Given the description of an element on the screen output the (x, y) to click on. 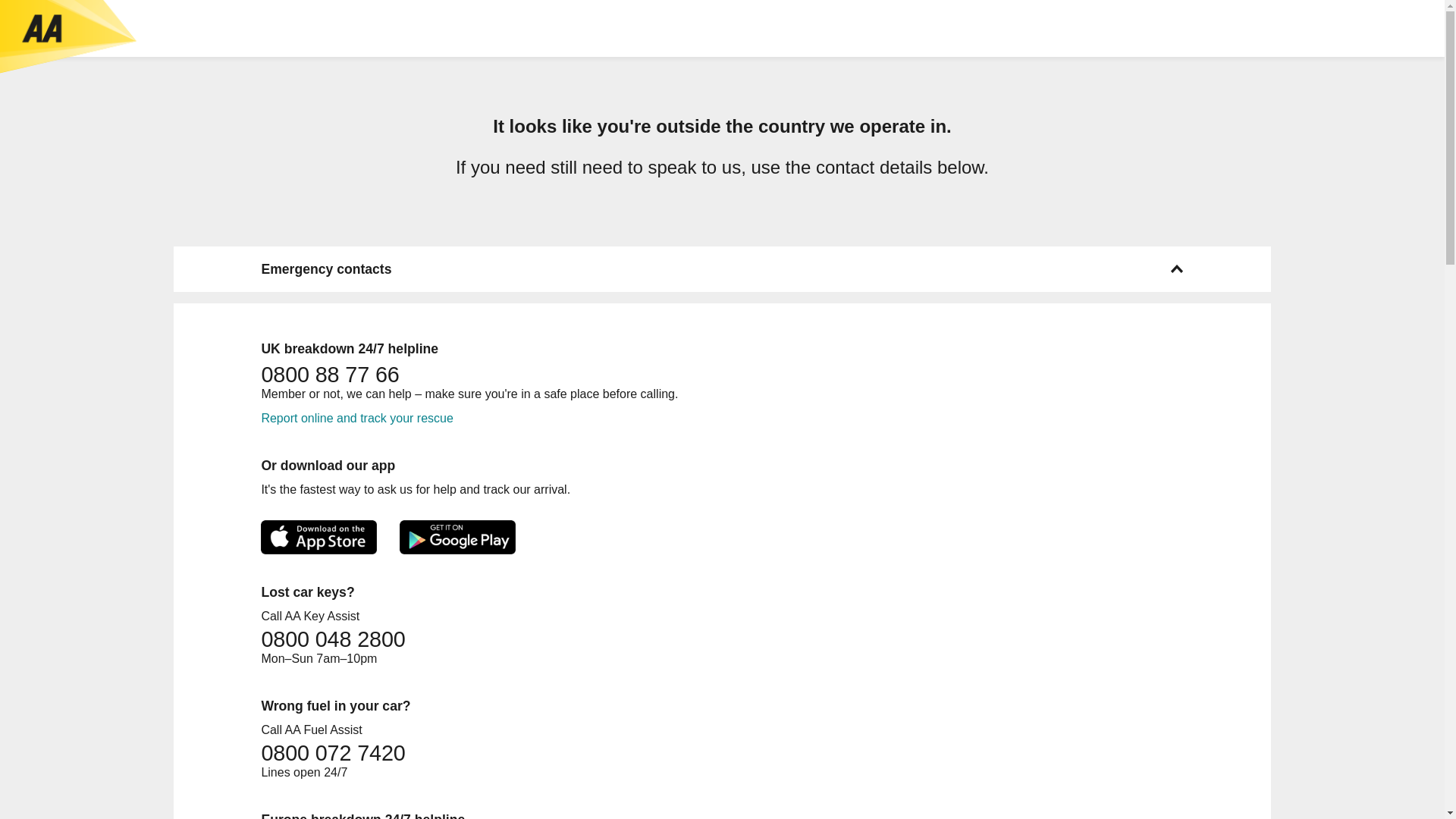
Report online and track your rescue (356, 418)
